Given the description of an element on the screen output the (x, y) to click on. 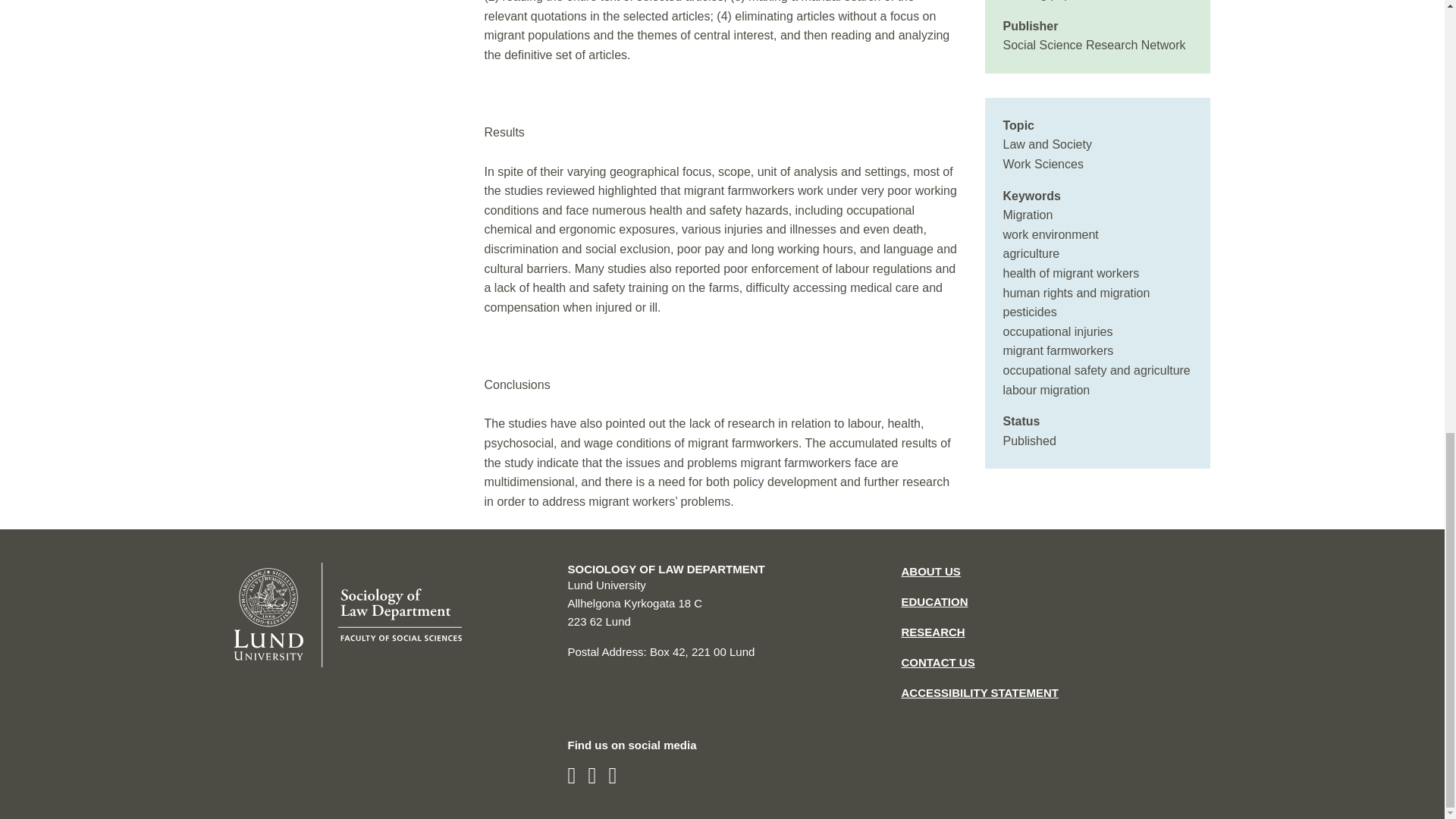
The Sociology of Law Department on Linkedin (591, 775)
The Sociology of Law Department on Facebook (571, 775)
The Sociology of Law Department on Youtube (611, 775)
